Given the description of an element on the screen output the (x, y) to click on. 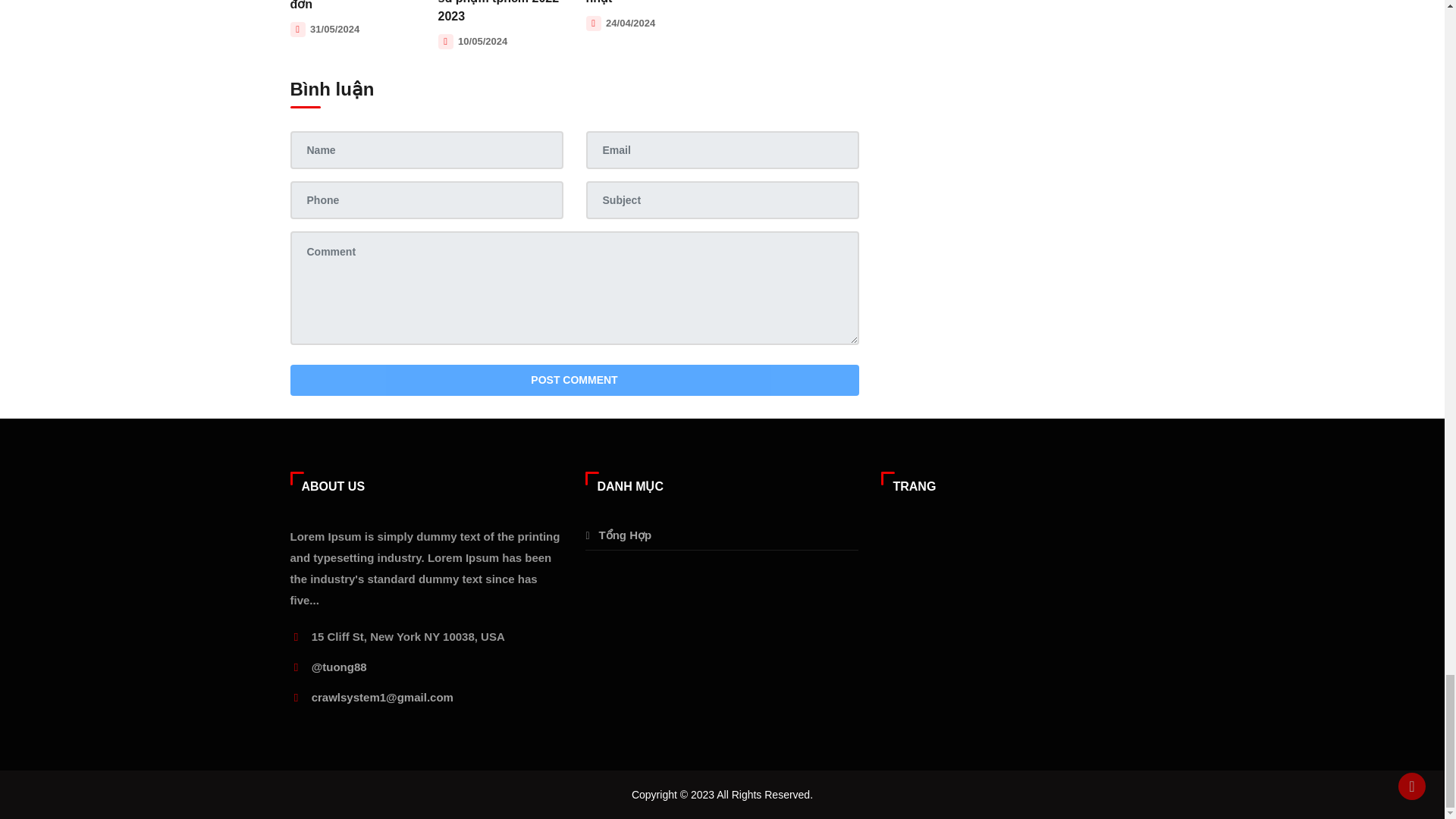
POST COMMENT (574, 379)
